Given the description of an element on the screen output the (x, y) to click on. 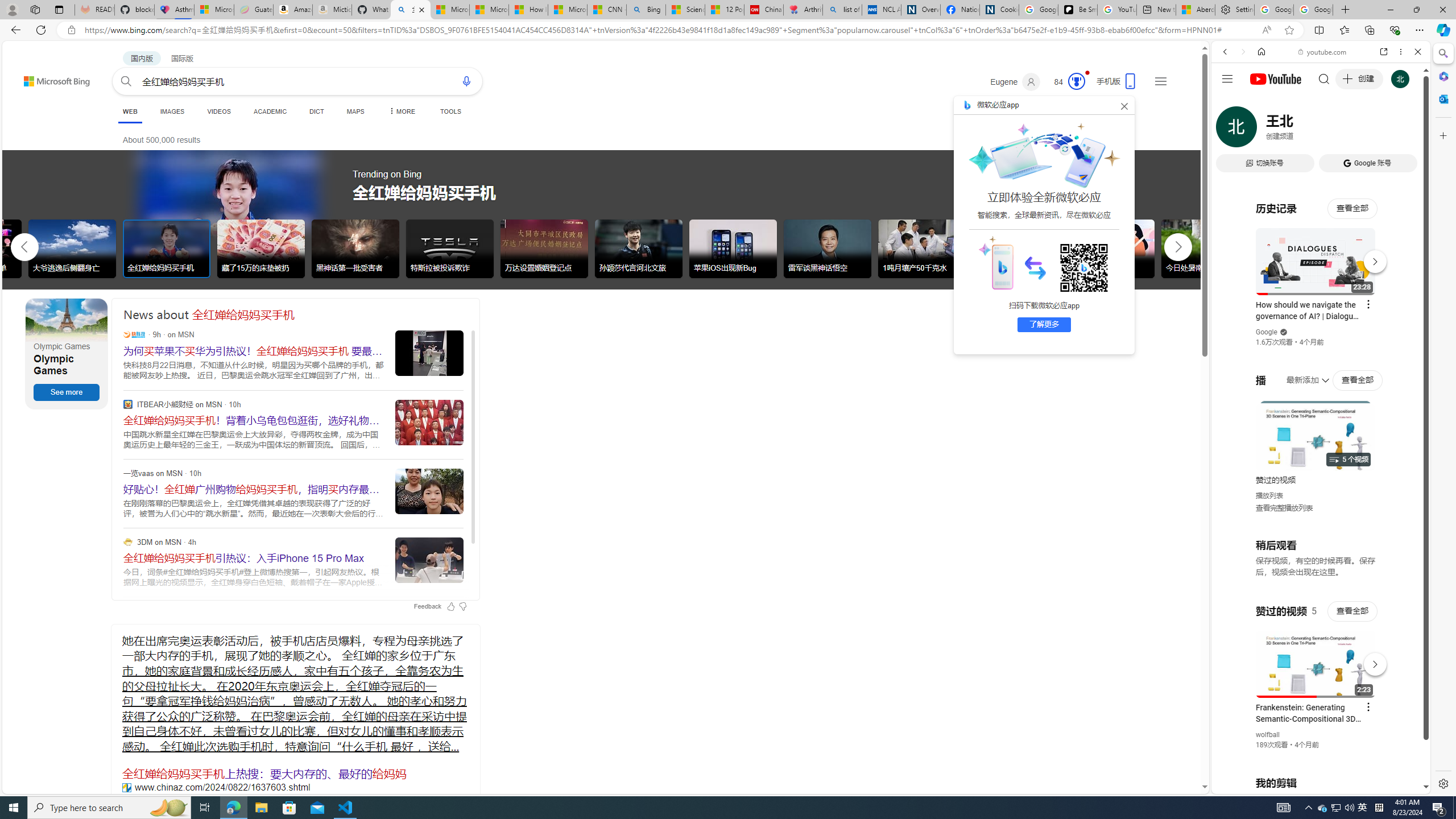
Olympic Games Olympic Games See more (66, 353)
Copilot (Ctrl+Shift+.) (1442, 29)
IMAGES (172, 111)
This site scope (1259, 102)
Asthma Inhalers: Names and Types (174, 9)
Settings (1442, 783)
Show More Music (1390, 310)
Split screen (1318, 29)
